Given the description of an element on the screen output the (x, y) to click on. 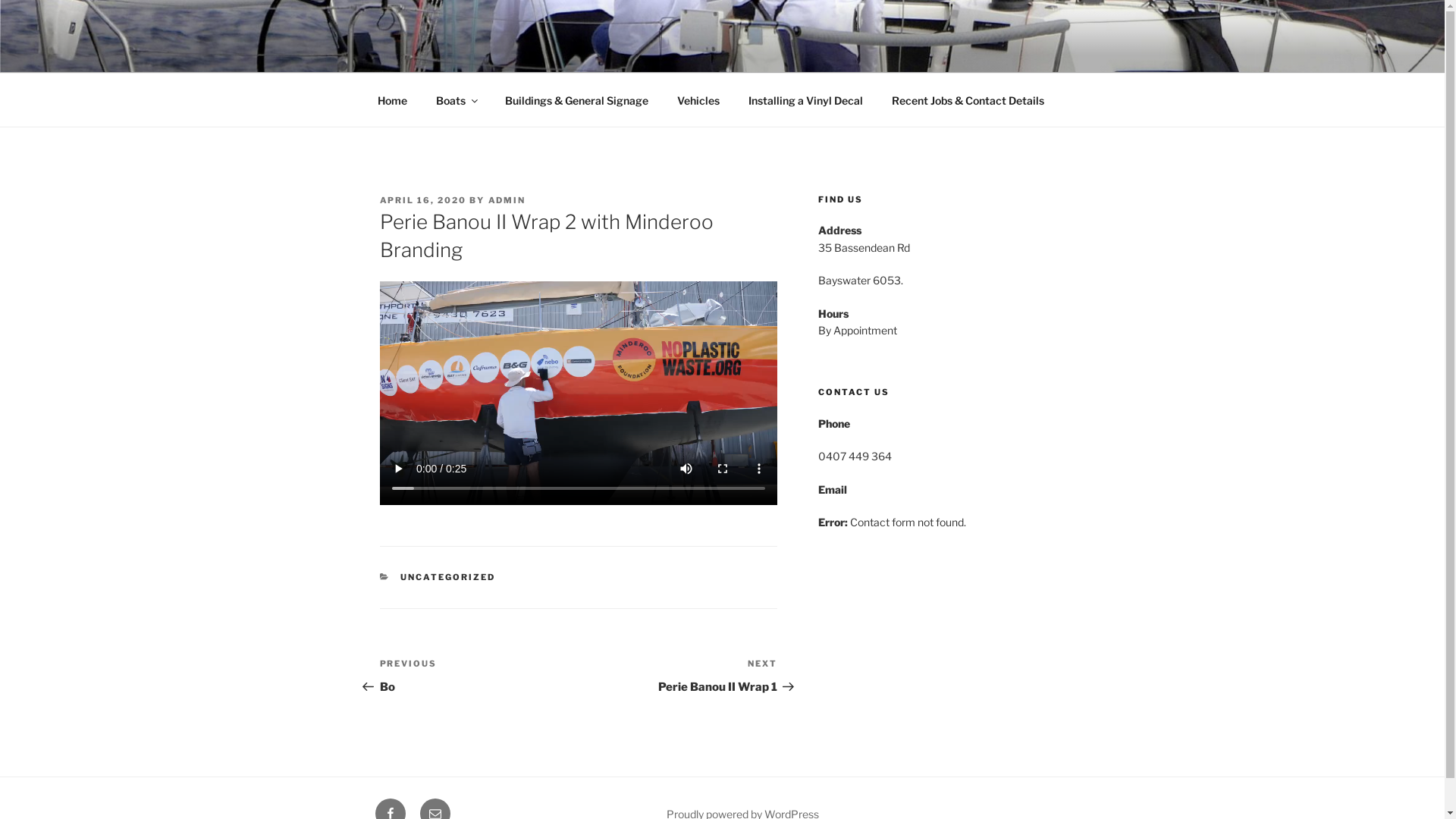
ADMIN Element type: text (507, 199)
Next Post
NEXT
Perie Banou II Wrap 1 Element type: text (677, 675)
Vehicles Element type: text (698, 100)
Home Element type: text (392, 100)
Previous Post
PREVIOUS
Bo Element type: text (478, 675)
N SIGNS Element type: text (443, 52)
APRIL 16, 2020 Element type: text (422, 199)
Boats Element type: text (456, 100)
Recent Jobs & Contact Details Element type: text (967, 100)
UNCATEGORIZED Element type: text (447, 576)
Installing a Vinyl Decal Element type: text (805, 100)
Buildings & General Signage Element type: text (576, 100)
